Given the description of an element on the screen output the (x, y) to click on. 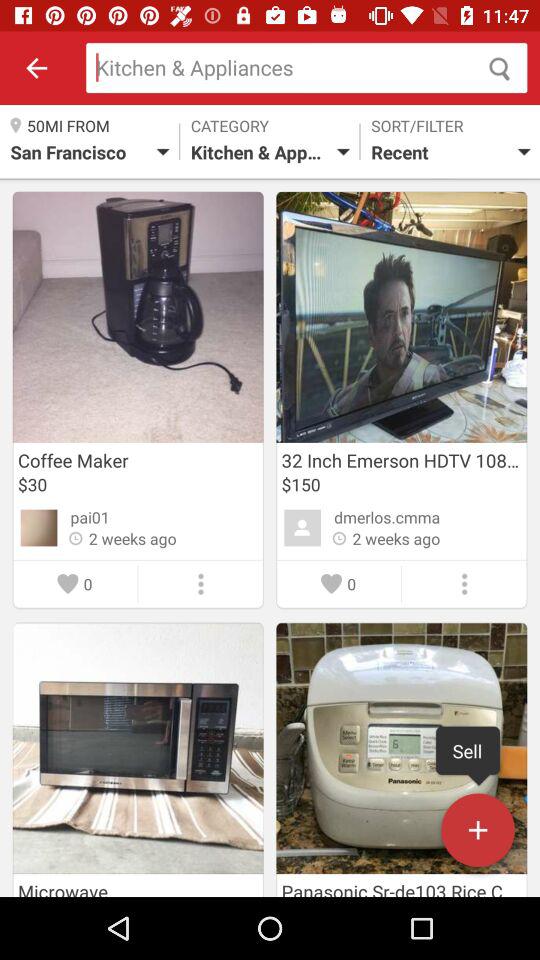
search kitchen and appliances (306, 67)
